Given the description of an element on the screen output the (x, y) to click on. 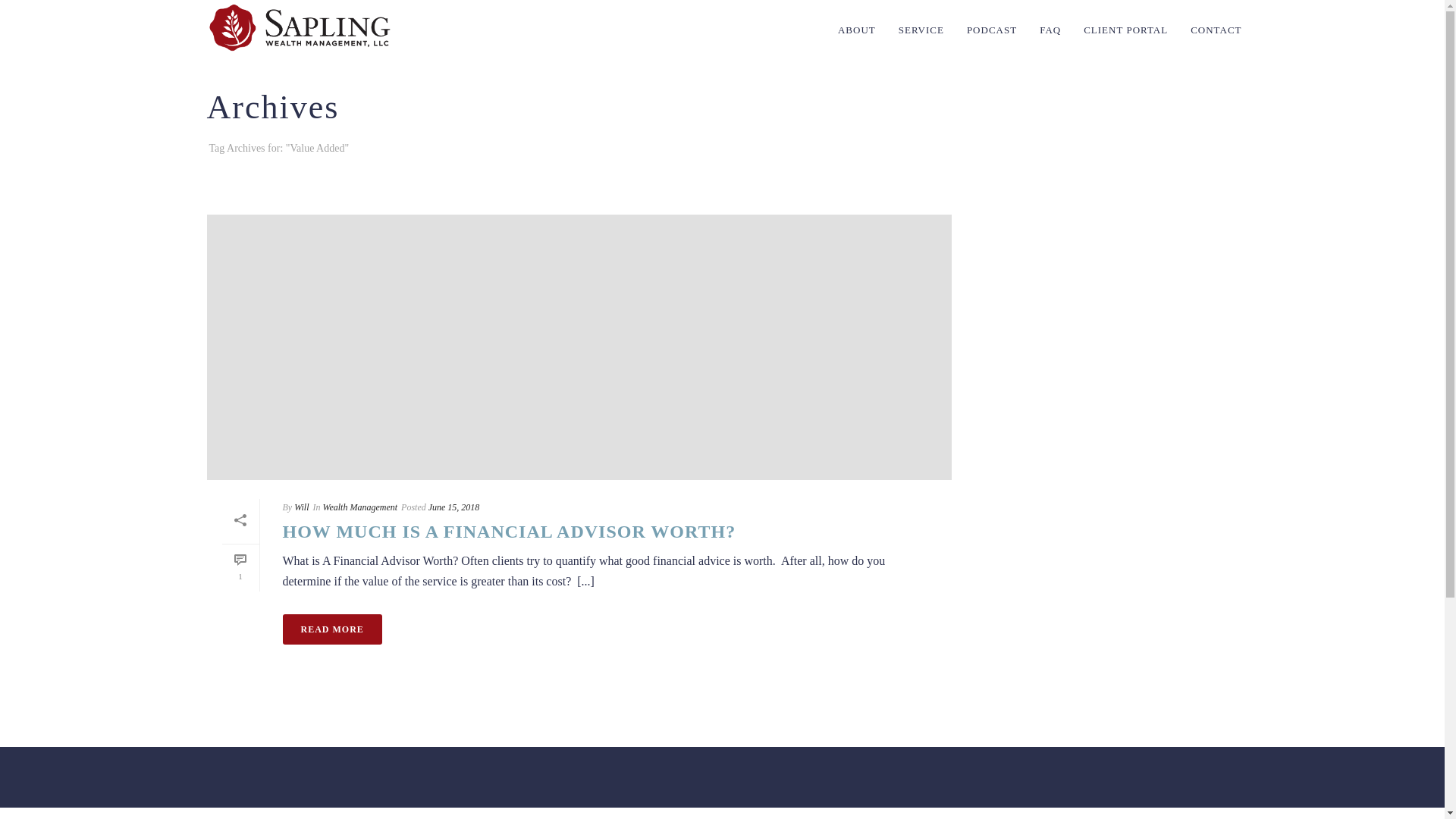
READ MORE (331, 629)
PODCAST (991, 28)
Will (301, 507)
ABOUT (856, 28)
READ MORE (331, 629)
CLIENT PORTAL (1125, 28)
CLIENT PORTAL (1125, 28)
SERVICE (920, 28)
SERVICE (920, 28)
CONTACT (1215, 28)
CONTACT (1215, 28)
ABOUT (856, 28)
HOW MUCH IS A FINANCIAL ADVISOR WORTH? (508, 531)
